Given the description of an element on the screen output the (x, y) to click on. 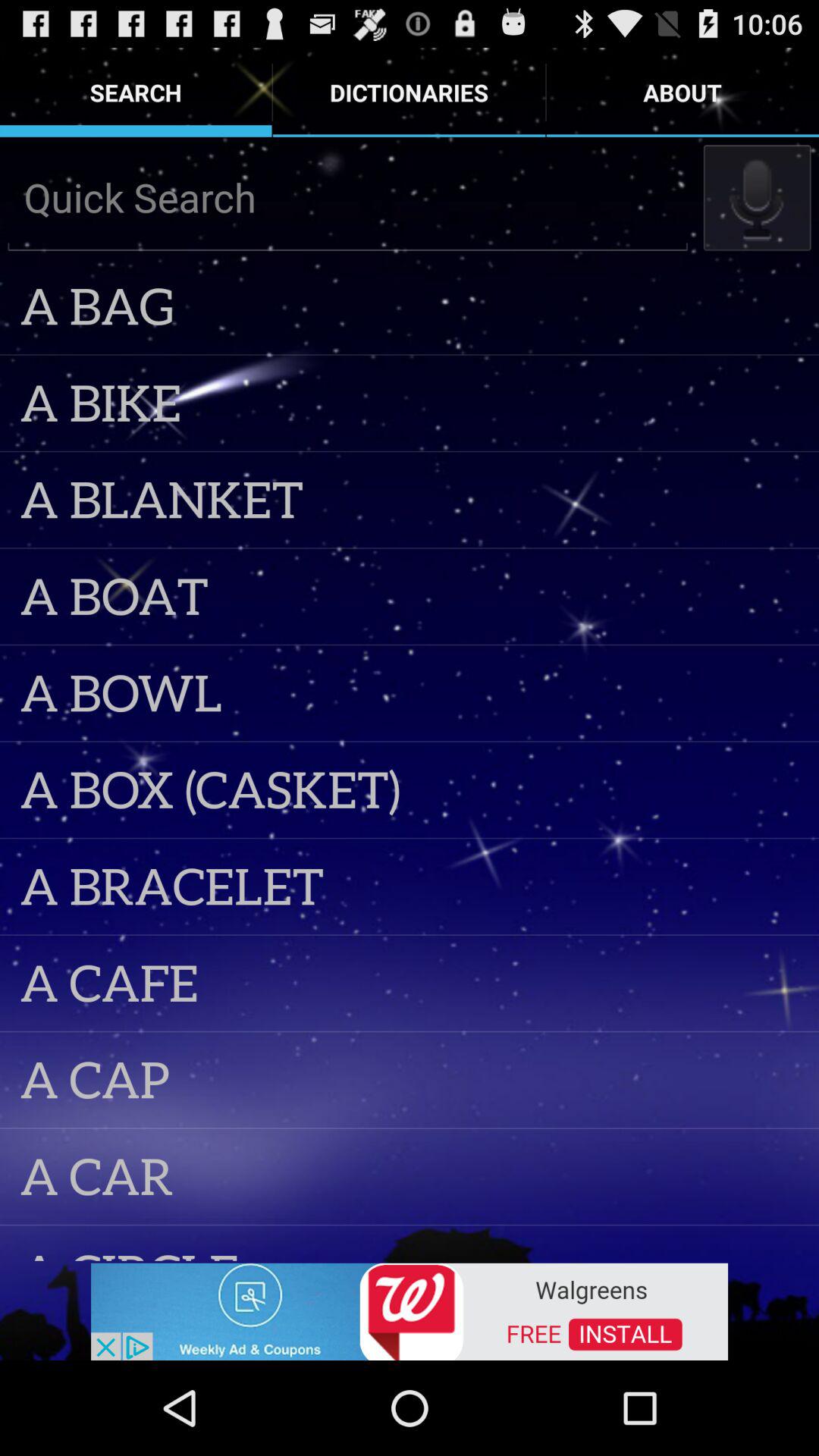
advertisement (409, 1310)
